Given the description of an element on the screen output the (x, y) to click on. 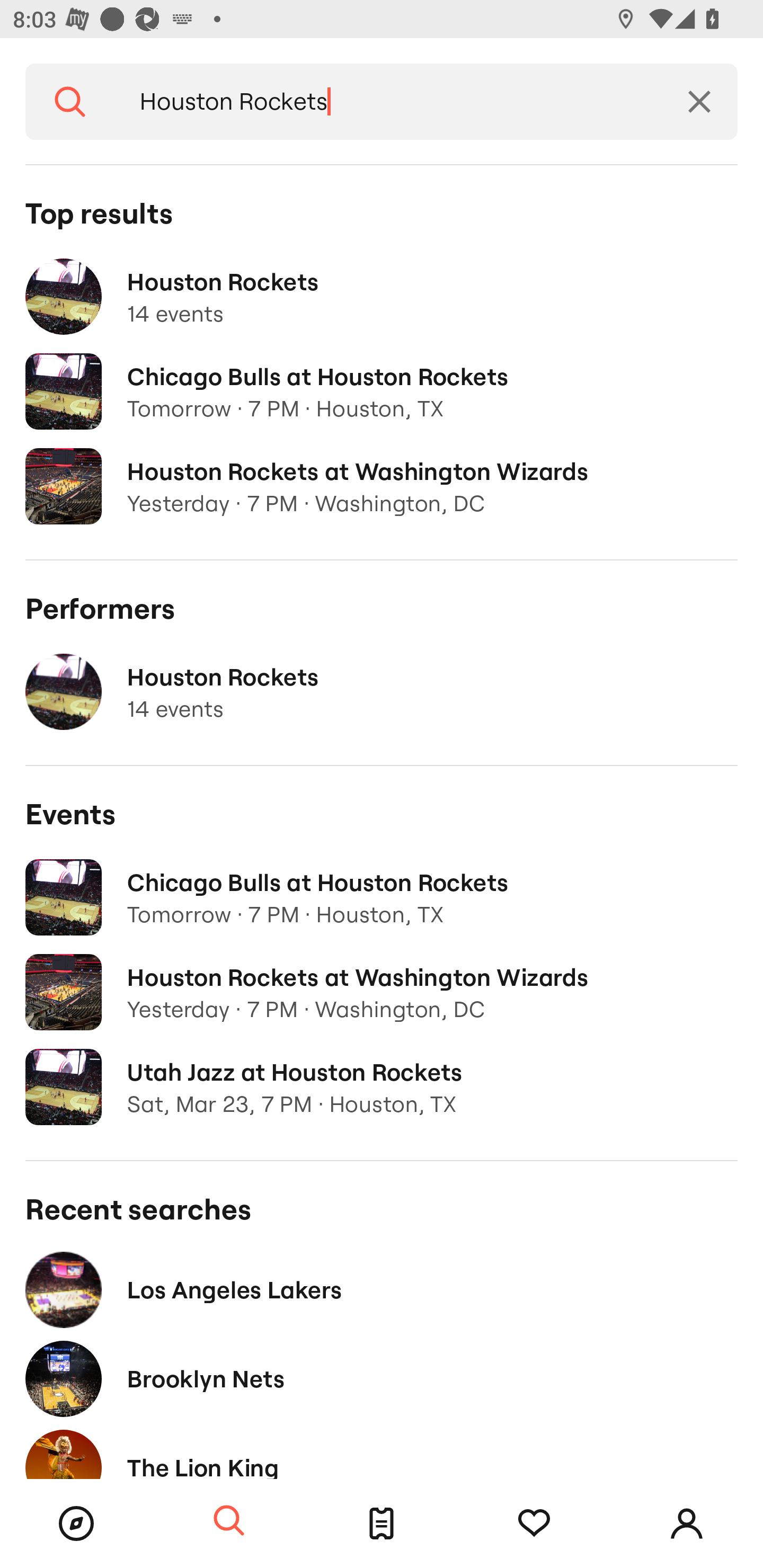
Search (69, 101)
Houston Rockets (387, 101)
Clear (699, 101)
Houston Rockets 14 events (381, 296)
Houston Rockets 14 events (381, 692)
Los Angeles Lakers (381, 1289)
Brooklyn Nets (381, 1378)
Browse (76, 1523)
Search (228, 1521)
Tickets (381, 1523)
Tracking (533, 1523)
Account (686, 1523)
